Given the description of an element on the screen output the (x, y) to click on. 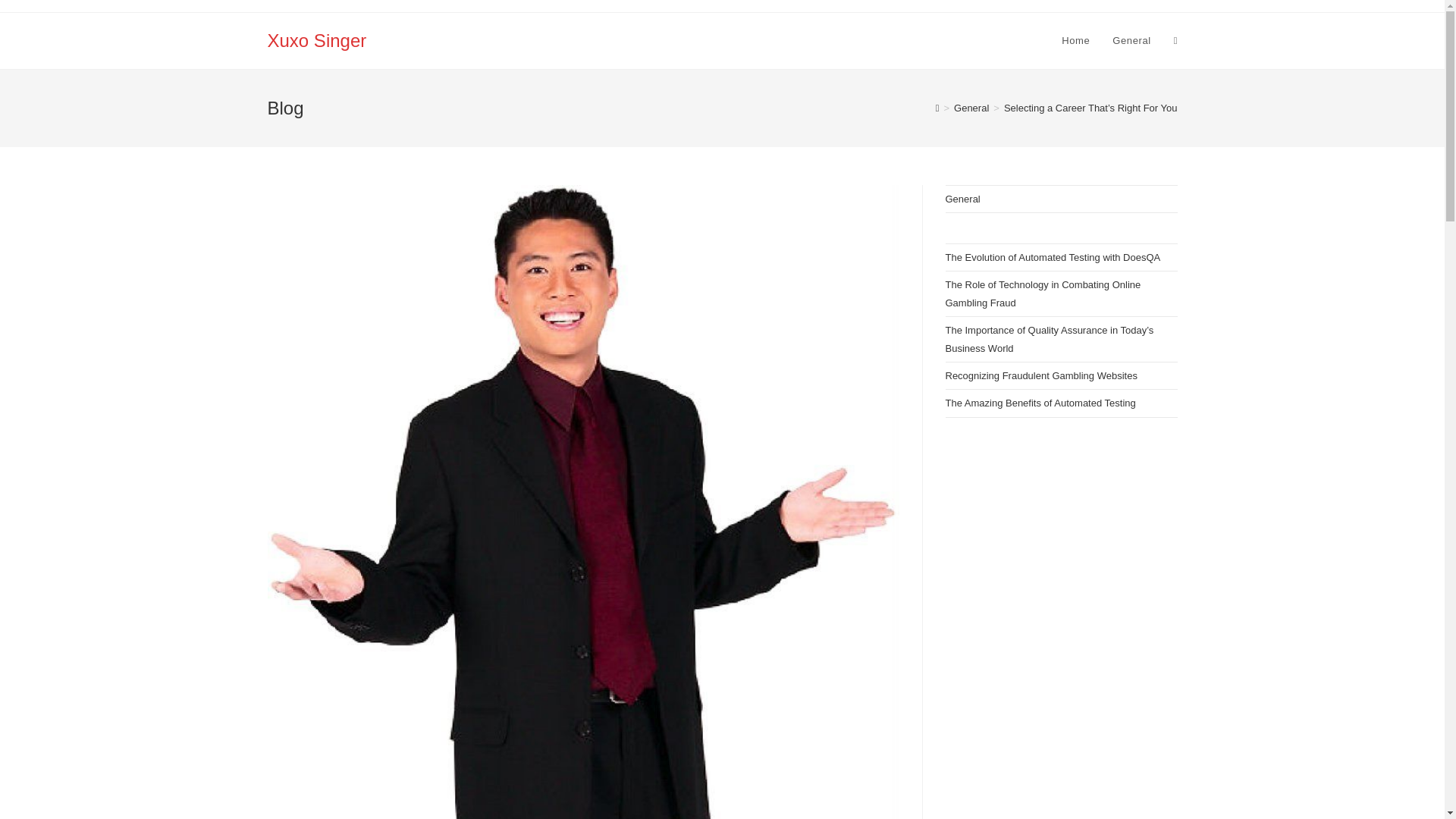
General (961, 198)
General (970, 107)
Recognizing Fraudulent Gambling Websites (1040, 375)
The Amazing Benefits of Automated Testing (1039, 402)
Home (1074, 40)
The Role of Technology in Combating Online Gambling Fraud (1042, 293)
The Evolution of Automated Testing with DoesQA (1052, 256)
General (1130, 40)
Xuxo Singer (316, 40)
